Given the description of an element on the screen output the (x, y) to click on. 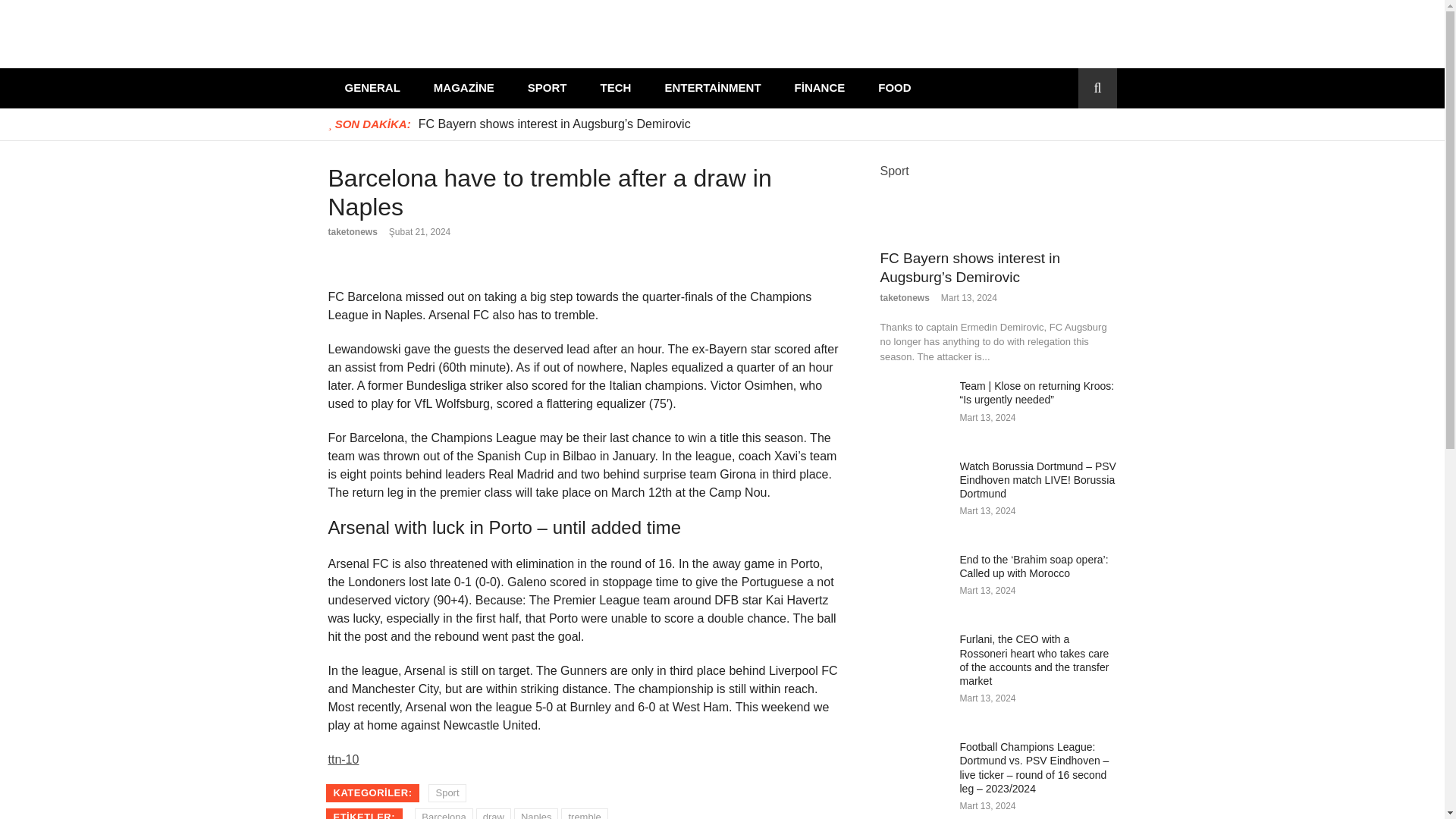
Naples (535, 813)
Sport (893, 169)
taketonews (903, 297)
ENTERTAINMENT (712, 87)
FOOD (894, 87)
GENERAL (371, 87)
MAGAZINE (463, 87)
TECH (615, 87)
tremble (583, 813)
Barcelona (443, 813)
ttn-10 (342, 758)
SPORT (547, 87)
taketonews (352, 231)
Sport (446, 792)
